Given the description of an element on the screen output the (x, y) to click on. 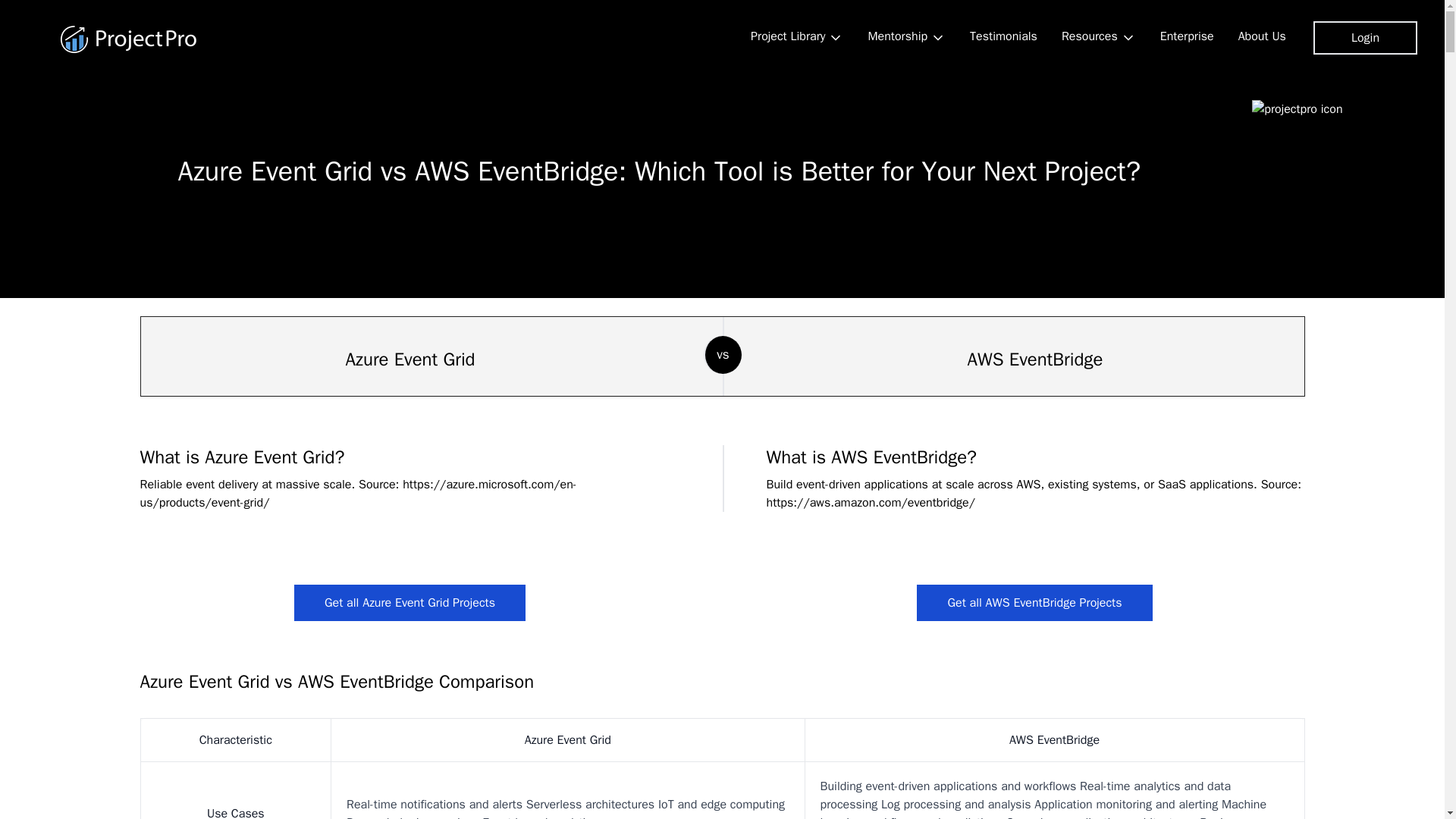
Projects (797, 37)
Login (1364, 37)
About us (1261, 36)
Enterprise (1186, 36)
Get all Azure Event Grid projects (409, 602)
Customer Testimonials (1003, 36)
Get all AWS EventBridge Projects (1034, 602)
Get all AWS EventBridge projects (1034, 602)
Enterprise (1186, 36)
Login (1364, 37)
Resources (1098, 37)
projectpro logo (128, 39)
Get all Azure Event Grid Projects (409, 602)
Testimonials (1003, 36)
About Us (1261, 36)
